Given the description of an element on the screen output the (x, y) to click on. 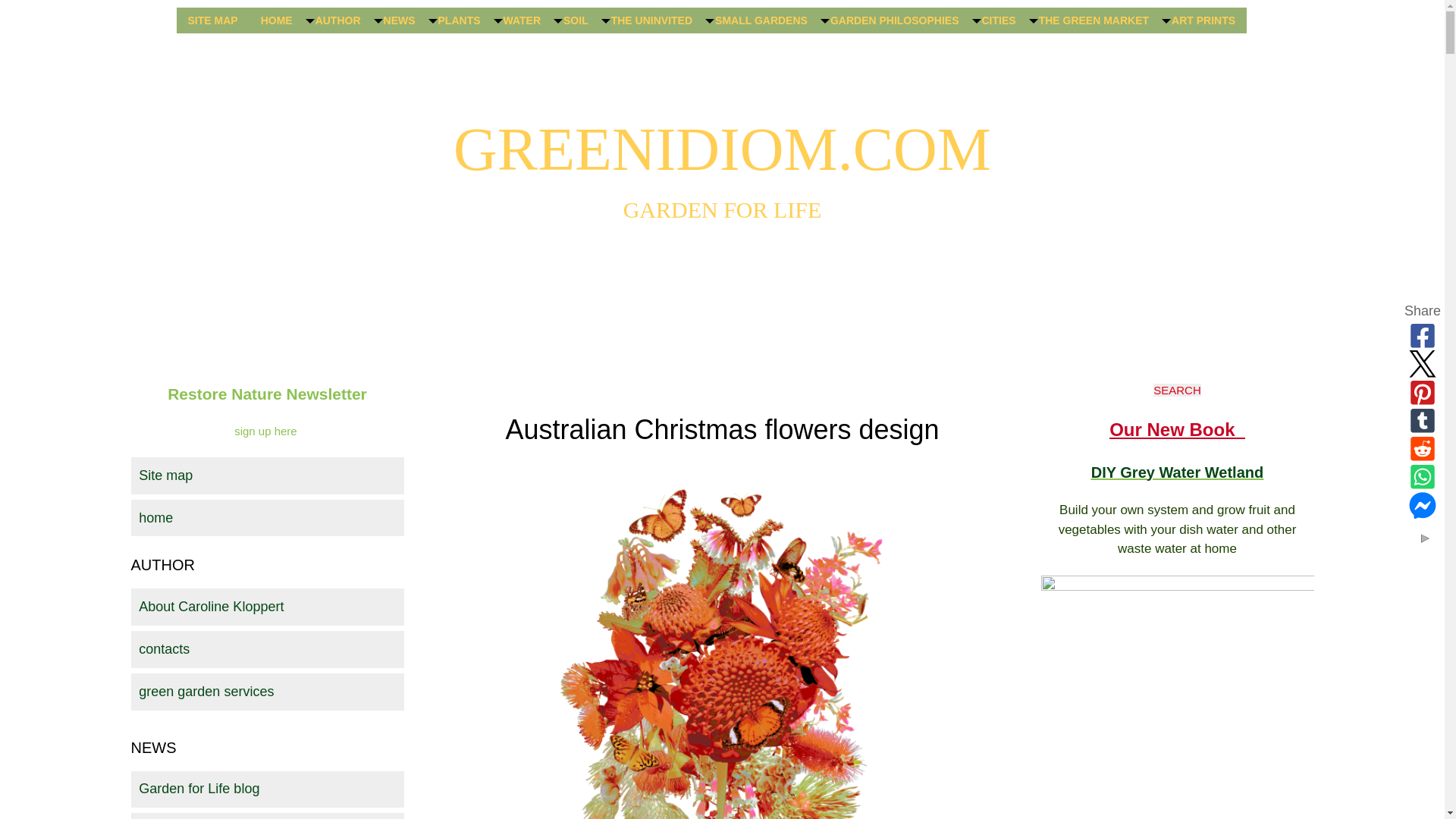
SITE MAP (212, 20)
GREENIDIOM.COM (721, 149)
HOME (276, 20)
Australian Christmas flowers in fire colours. (722, 643)
